Given the description of an element on the screen output the (x, y) to click on. 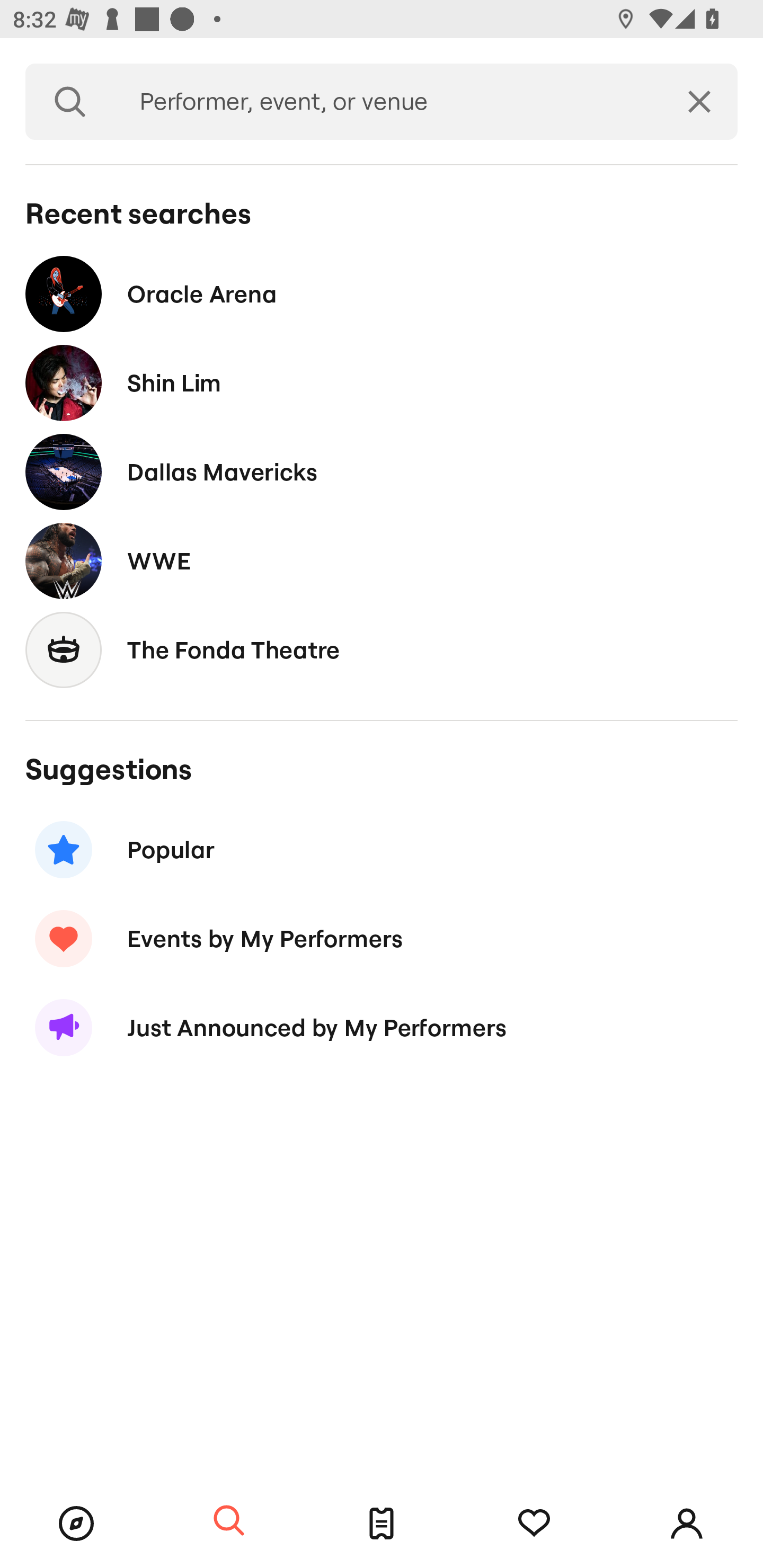
Search (69, 101)
Performer, event, or venue (387, 101)
Clear (699, 101)
Oracle Arena (381, 293)
Shin Lim (381, 383)
Dallas Mavericks (381, 471)
WWE (381, 560)
The Fonda Theatre (381, 649)
Popular (381, 849)
Events by My Performers (381, 938)
Just Announced by My Performers (381, 1027)
Browse (76, 1523)
Search (228, 1521)
Tickets (381, 1523)
Tracking (533, 1523)
Account (686, 1523)
